Given the description of an element on the screen output the (x, y) to click on. 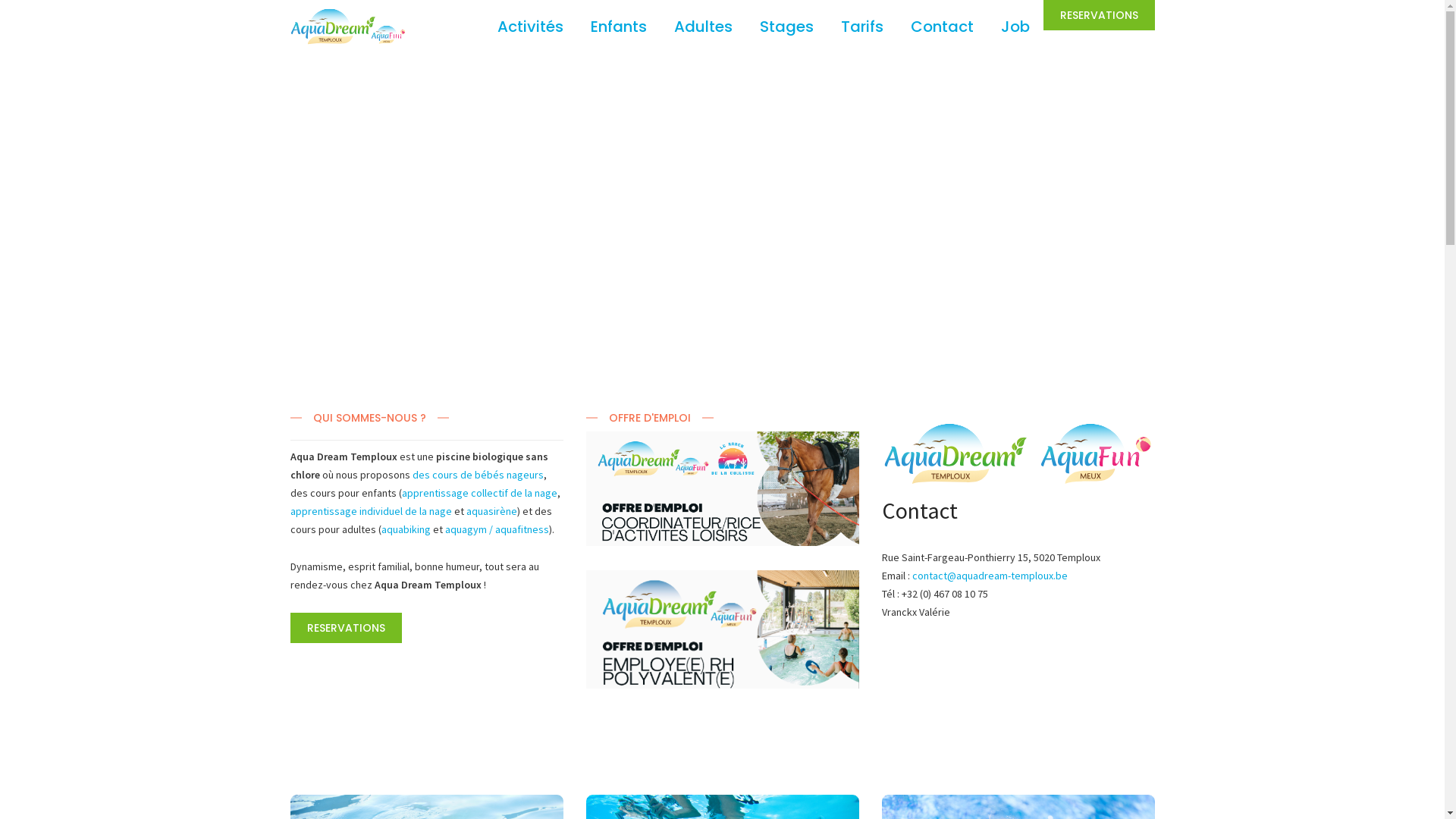
apprentissage individuel de la nage Element type: text (370, 510)
aquagym / aquafitness Element type: text (496, 529)
Aqua Dream Temploux Element type: hover (347, 37)
RESERVATIONS Element type: text (345, 627)
aquabiking Element type: text (404, 529)
Job Element type: text (1015, 26)
apprentissage collectif de la nage Element type: text (479, 492)
Tarifs Element type: text (861, 26)
Stages Element type: text (786, 26)
Contact Element type: text (941, 26)
Adultes Element type: text (702, 26)
Enfants Element type: text (617, 26)
contact@aquadream-temploux.be Element type: text (988, 575)
RESERVATIONS Element type: text (1098, 15)
